Given the description of an element on the screen output the (x, y) to click on. 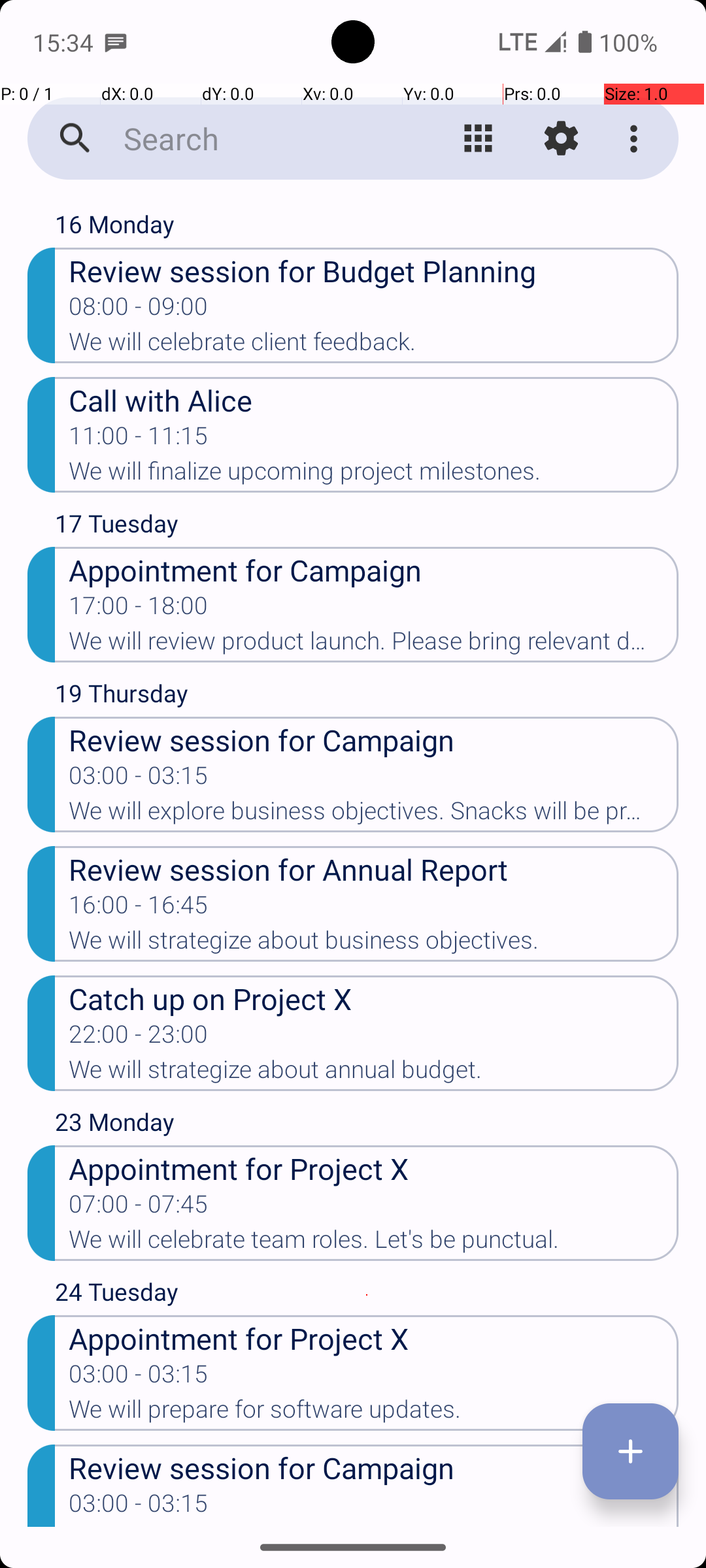
23 Monday Element type: android.widget.TextView (366, 1124)
24 Tuesday Element type: android.widget.TextView (366, 1294)
08:00 - 09:00 Element type: android.widget.TextView (137, 309)
We will celebrate client feedback. Element type: android.widget.TextView (373, 345)
Call with Alice Element type: android.widget.TextView (373, 399)
11:00 - 11:15 Element type: android.widget.TextView (137, 439)
We will finalize upcoming project milestones. Element type: android.widget.TextView (373, 474)
17:00 - 18:00 Element type: android.widget.TextView (137, 609)
We will review product launch. Please bring relevant documents. Element type: android.widget.TextView (373, 644)
03:00 - 03:15 Element type: android.widget.TextView (137, 779)
We will explore business objectives. Snacks will be provided. Element type: android.widget.TextView (373, 814)
16:00 - 16:45 Element type: android.widget.TextView (137, 908)
We will strategize about business objectives. Element type: android.widget.TextView (373, 943)
22:00 - 23:00 Element type: android.widget.TextView (137, 1037)
We will strategize about annual budget. Element type: android.widget.TextView (373, 1073)
07:00 - 07:45 Element type: android.widget.TextView (137, 1207)
We will celebrate team roles. Let's be punctual. Element type: android.widget.TextView (373, 1242)
We will prepare for software updates. Element type: android.widget.TextView (373, 1412)
We will discuss product launch. Remember to confirm attendance. Element type: android.widget.TextView (373, 1525)
